Given the description of an element on the screen output the (x, y) to click on. 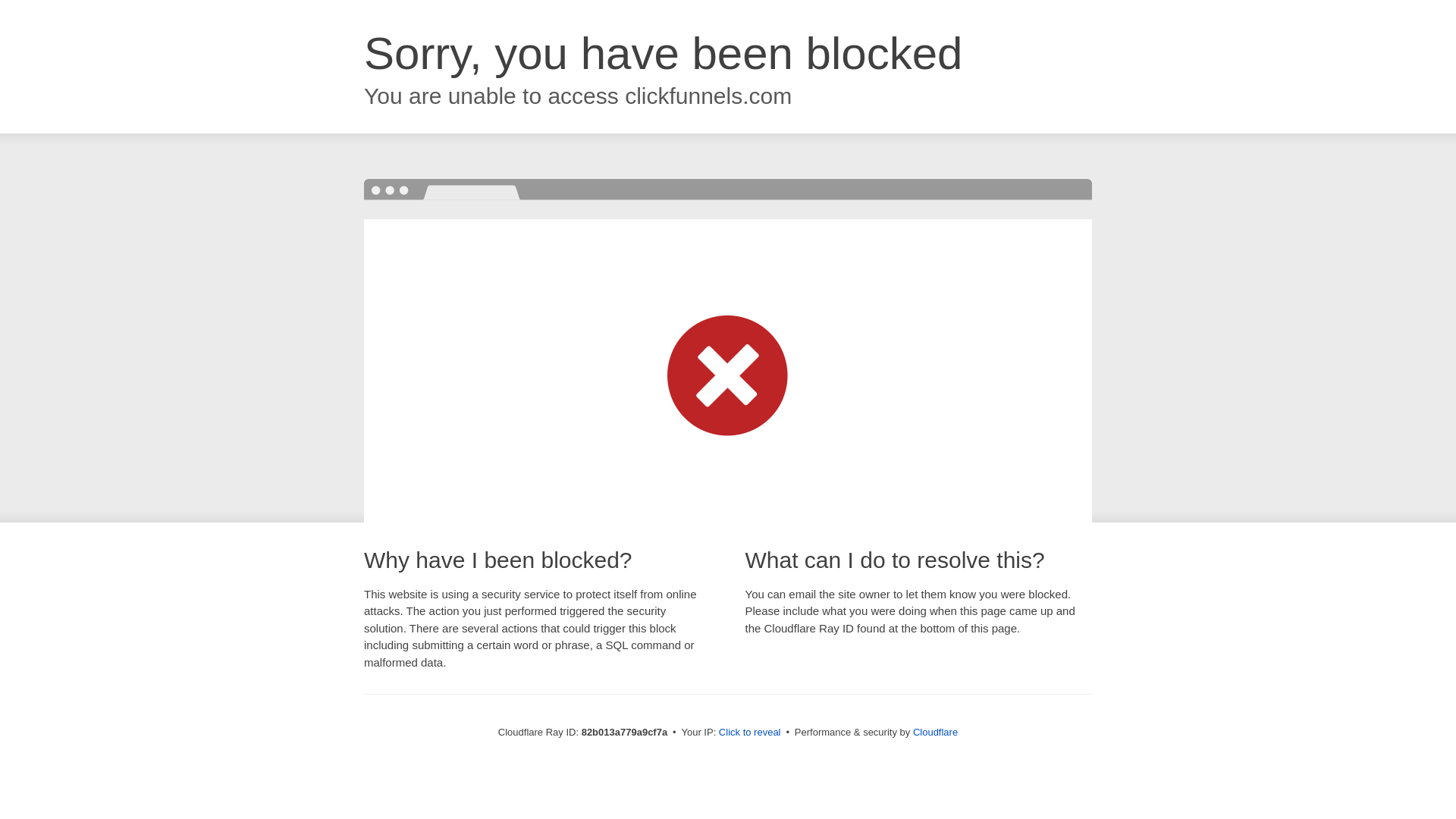
Cloudflare Element type: text (935, 731)
Click to reveal Element type: text (749, 732)
